Given the description of an element on the screen output the (x, y) to click on. 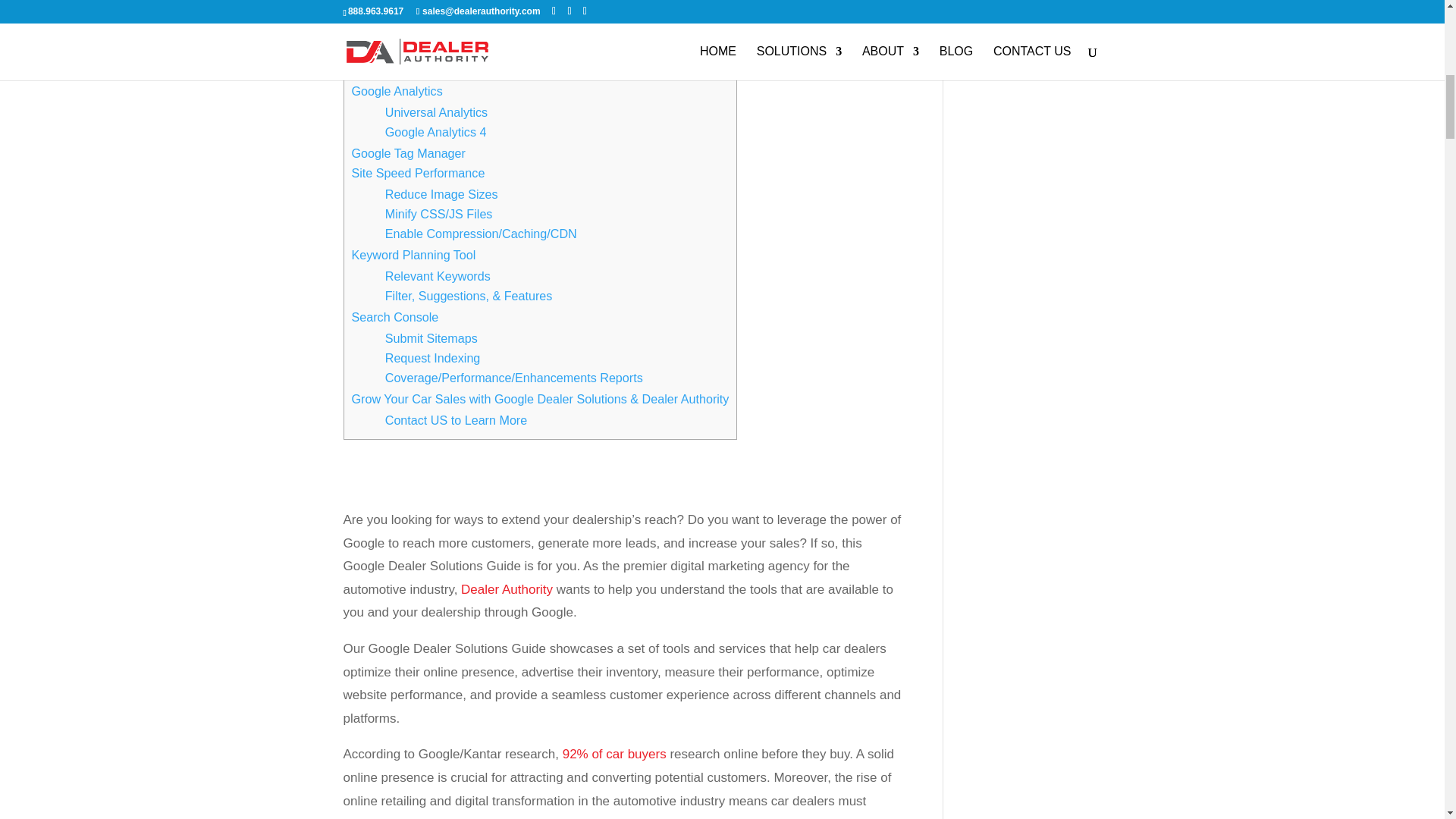
Dynamic Search Ads (442, 29)
Display Ads (416, 49)
Pre-Roll (407, 10)
